Given the description of an element on the screen output the (x, y) to click on. 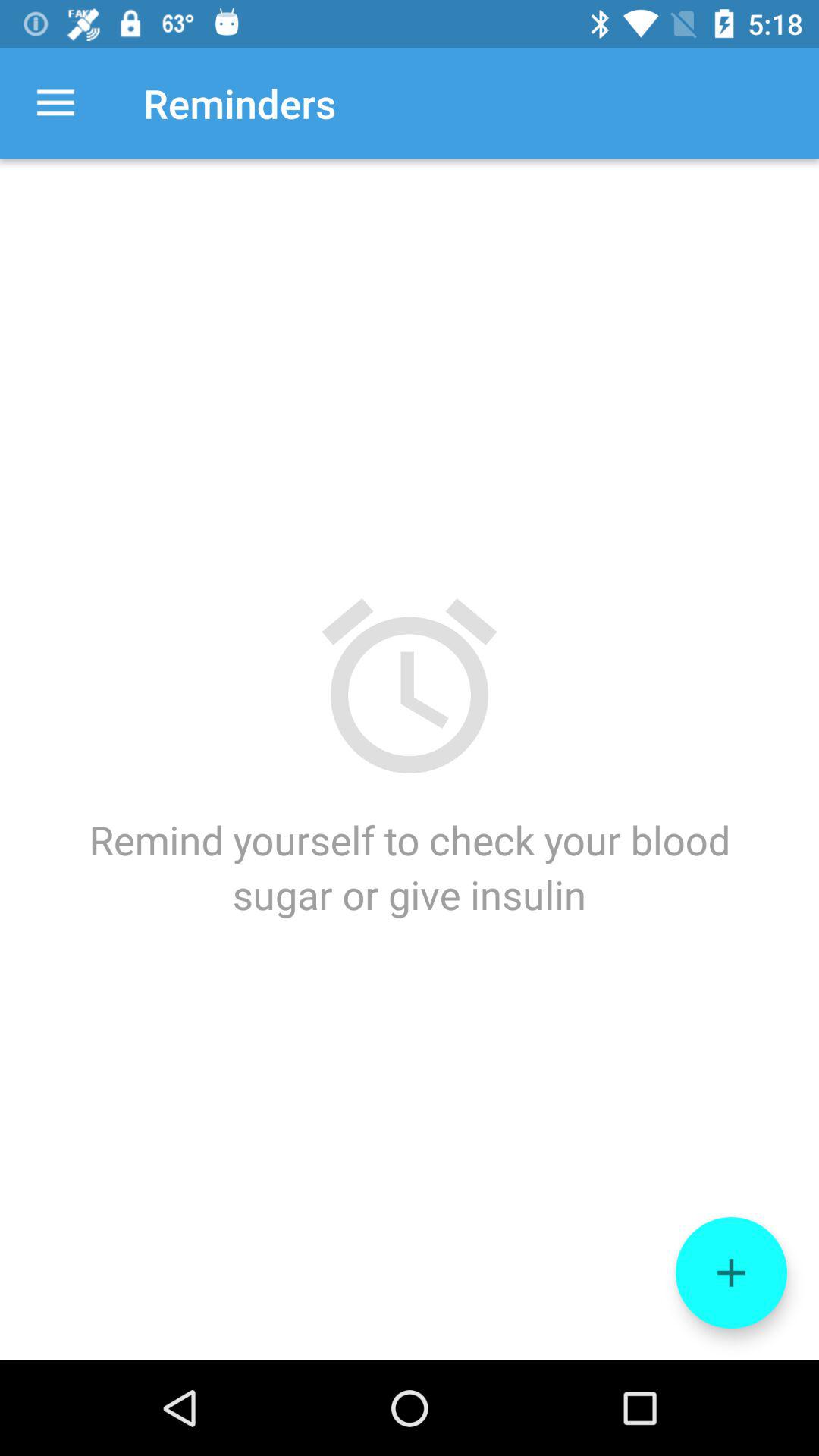
click the item at the bottom right corner (731, 1272)
